Given the description of an element on the screen output the (x, y) to click on. 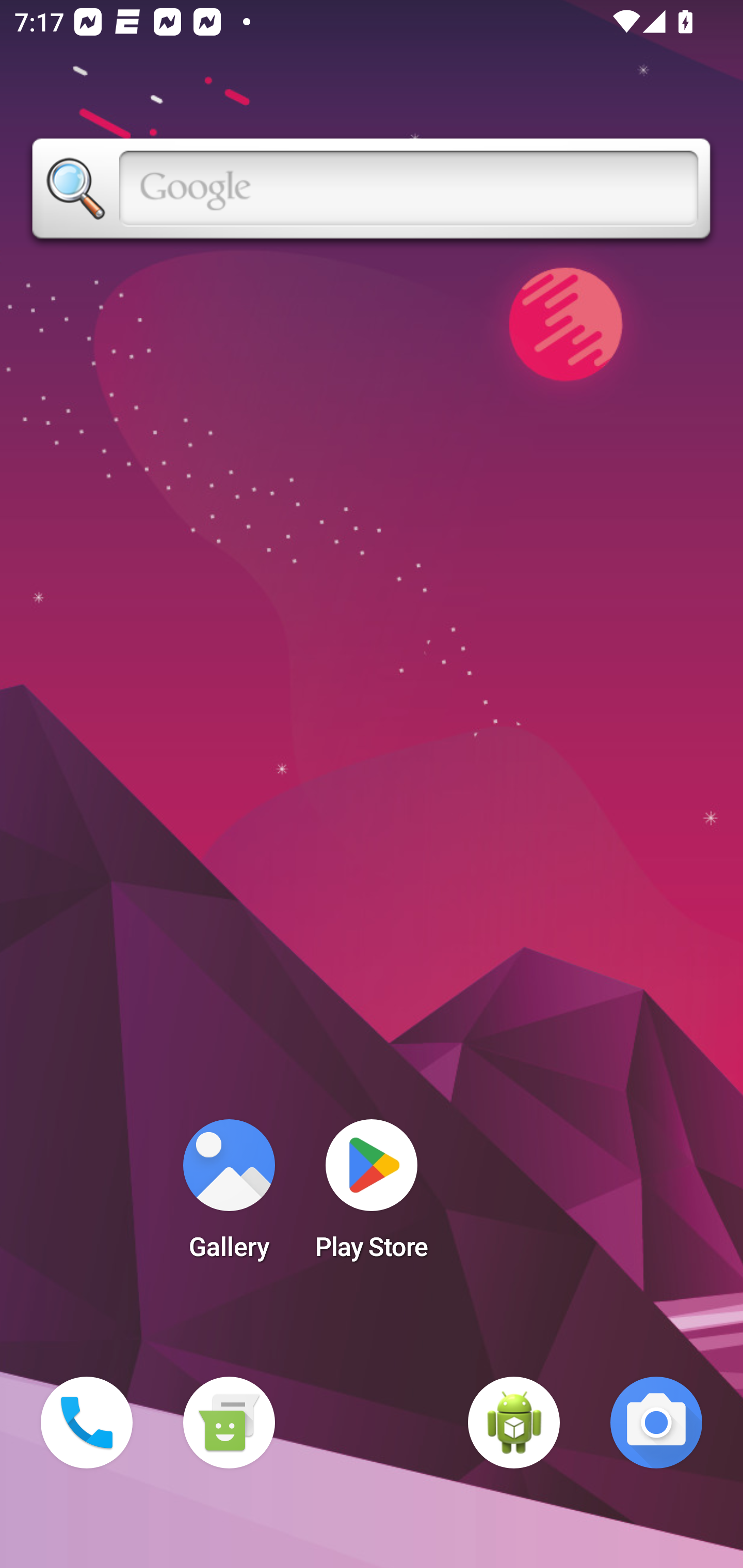
Gallery (228, 1195)
Play Store (371, 1195)
Phone (86, 1422)
Messaging (228, 1422)
WebView Browser Tester (513, 1422)
Camera (656, 1422)
